Given the description of an element on the screen output the (x, y) to click on. 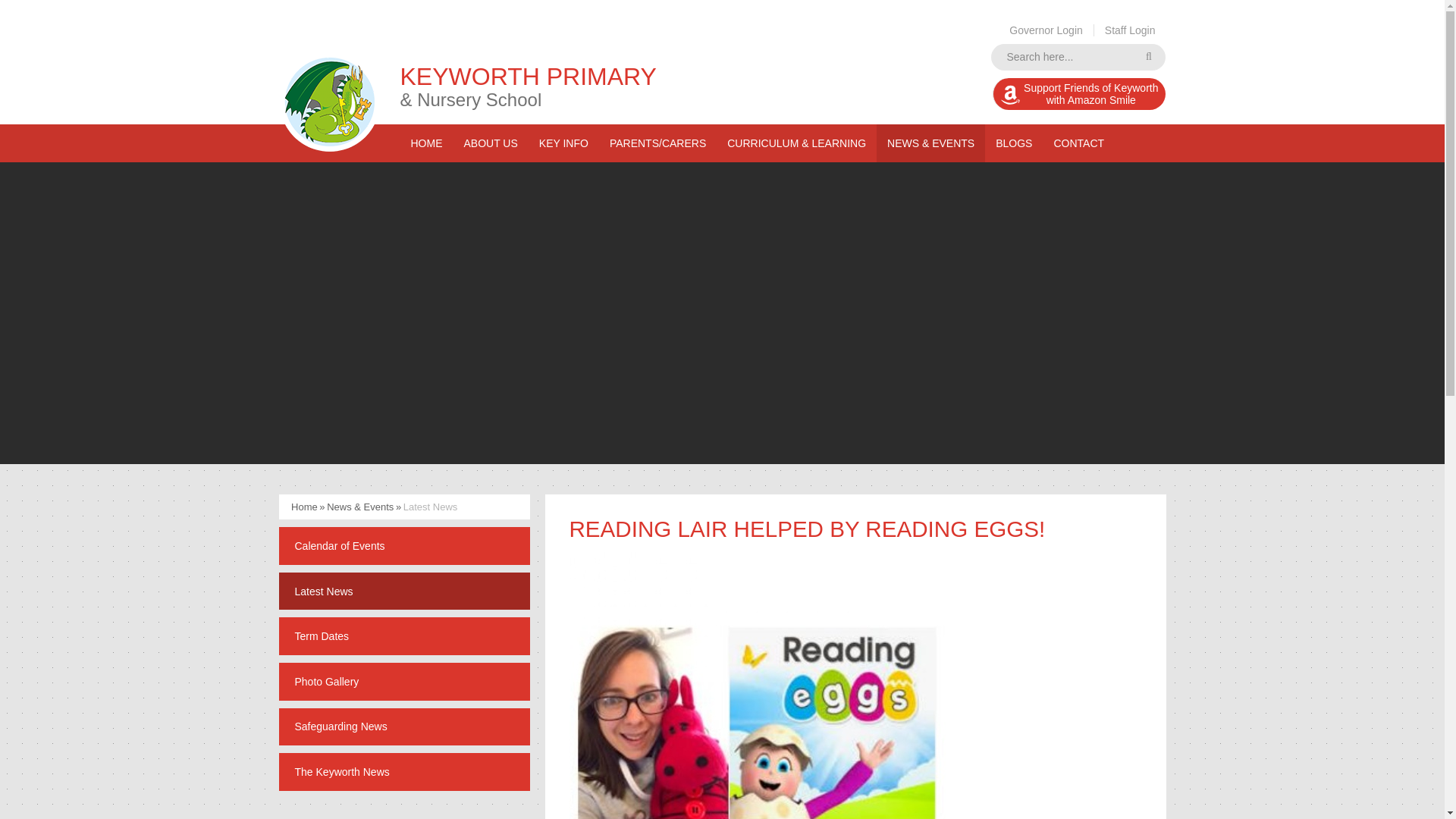
Staff Login (1130, 30)
search... (1078, 57)
Governor Login (1079, 93)
Search here... (1046, 30)
ABOUT US (1078, 57)
HOME (490, 143)
KEY INFO (426, 143)
